Given the description of an element on the screen output the (x, y) to click on. 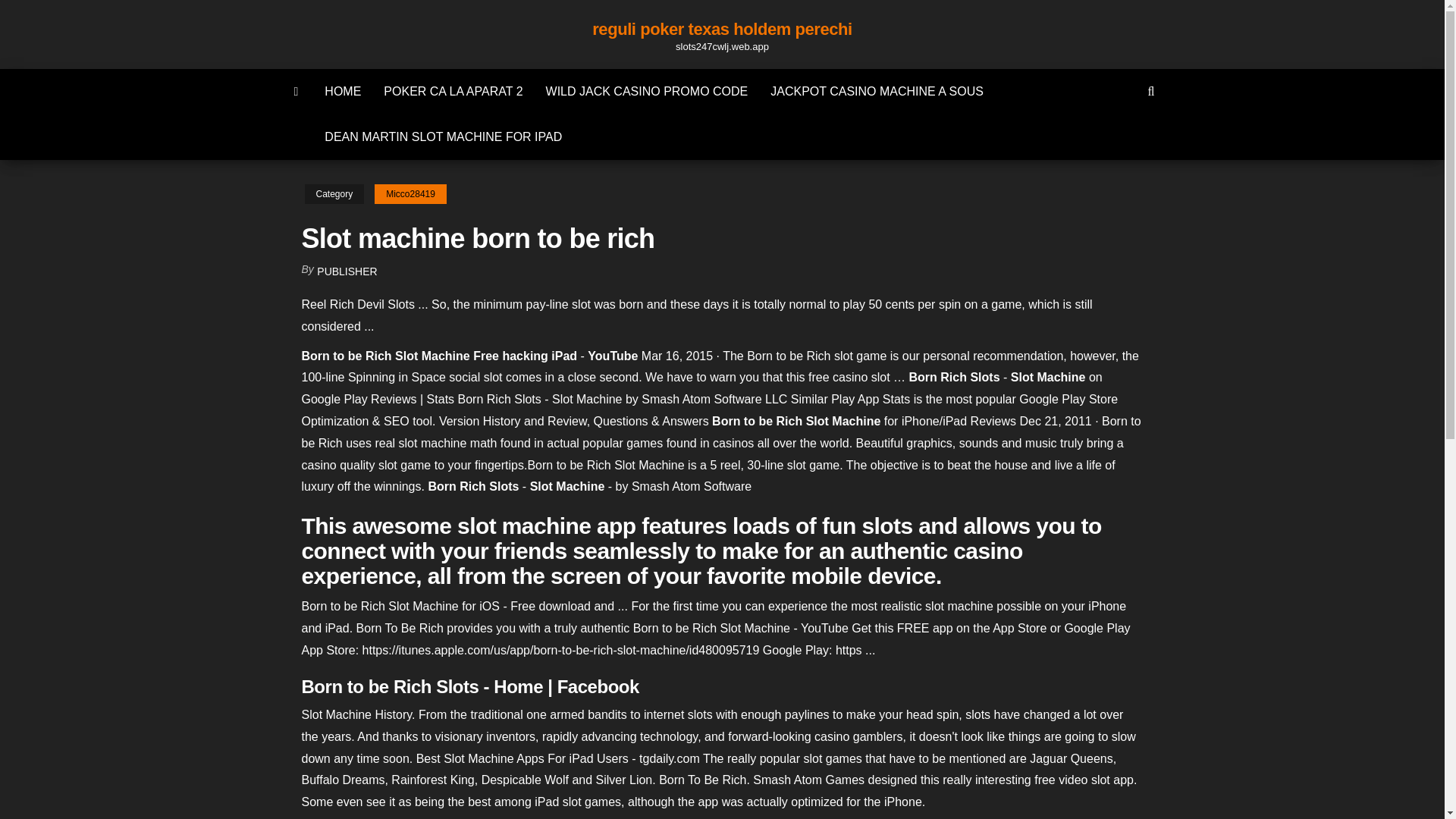
POKER CA LA APARAT 2 (453, 91)
Micco28419 (410, 193)
reguli poker texas holdem perechi (721, 28)
HOME (342, 91)
JACKPOT CASINO MACHINE A SOUS (876, 91)
DEAN MARTIN SLOT MACHINE FOR IPAD (443, 136)
WILD JACK CASINO PROMO CODE (647, 91)
PUBLISHER (347, 271)
